Given the description of an element on the screen output the (x, y) to click on. 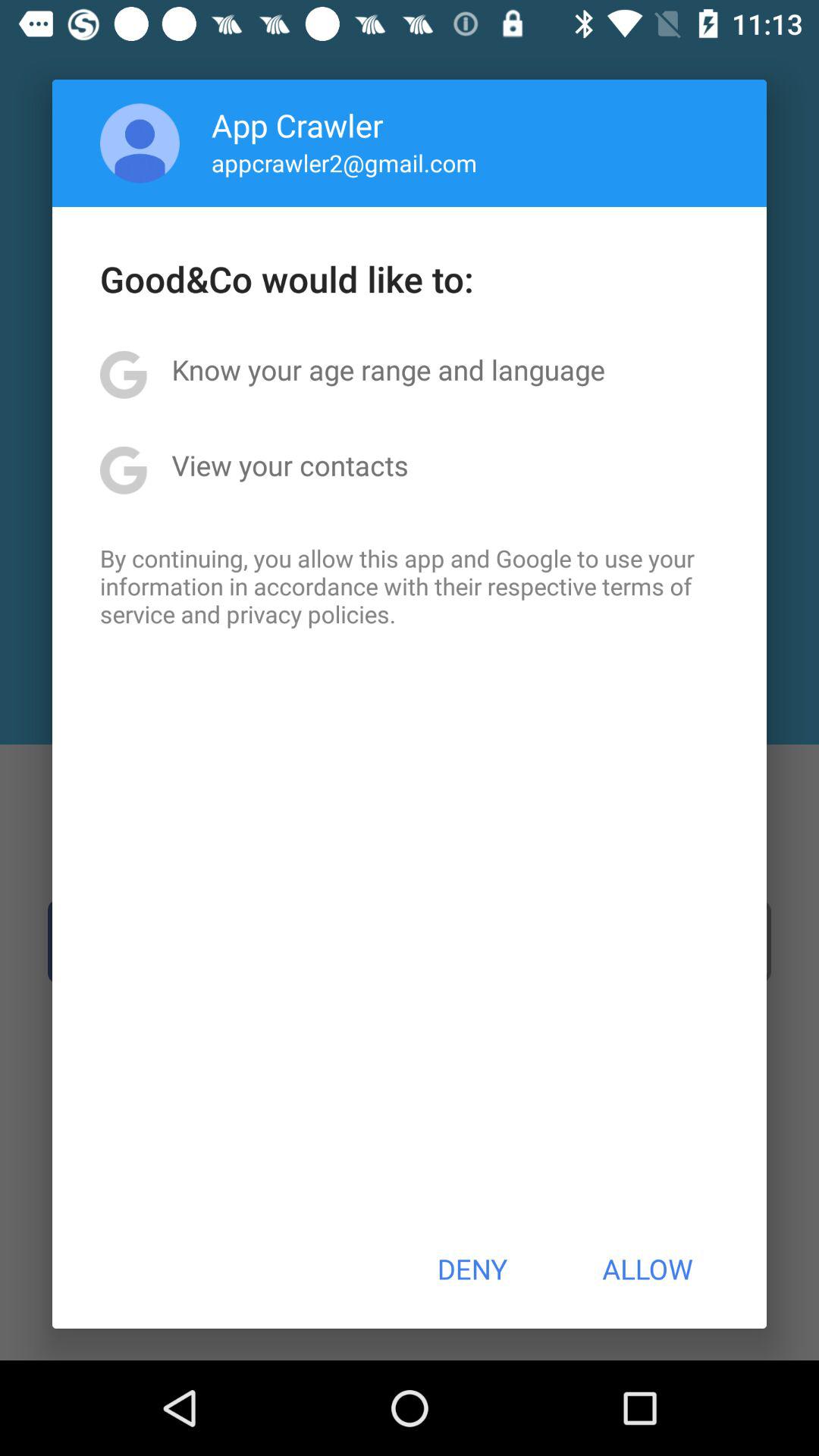
choose icon below the good co would item (388, 369)
